Given the description of an element on the screen output the (x, y) to click on. 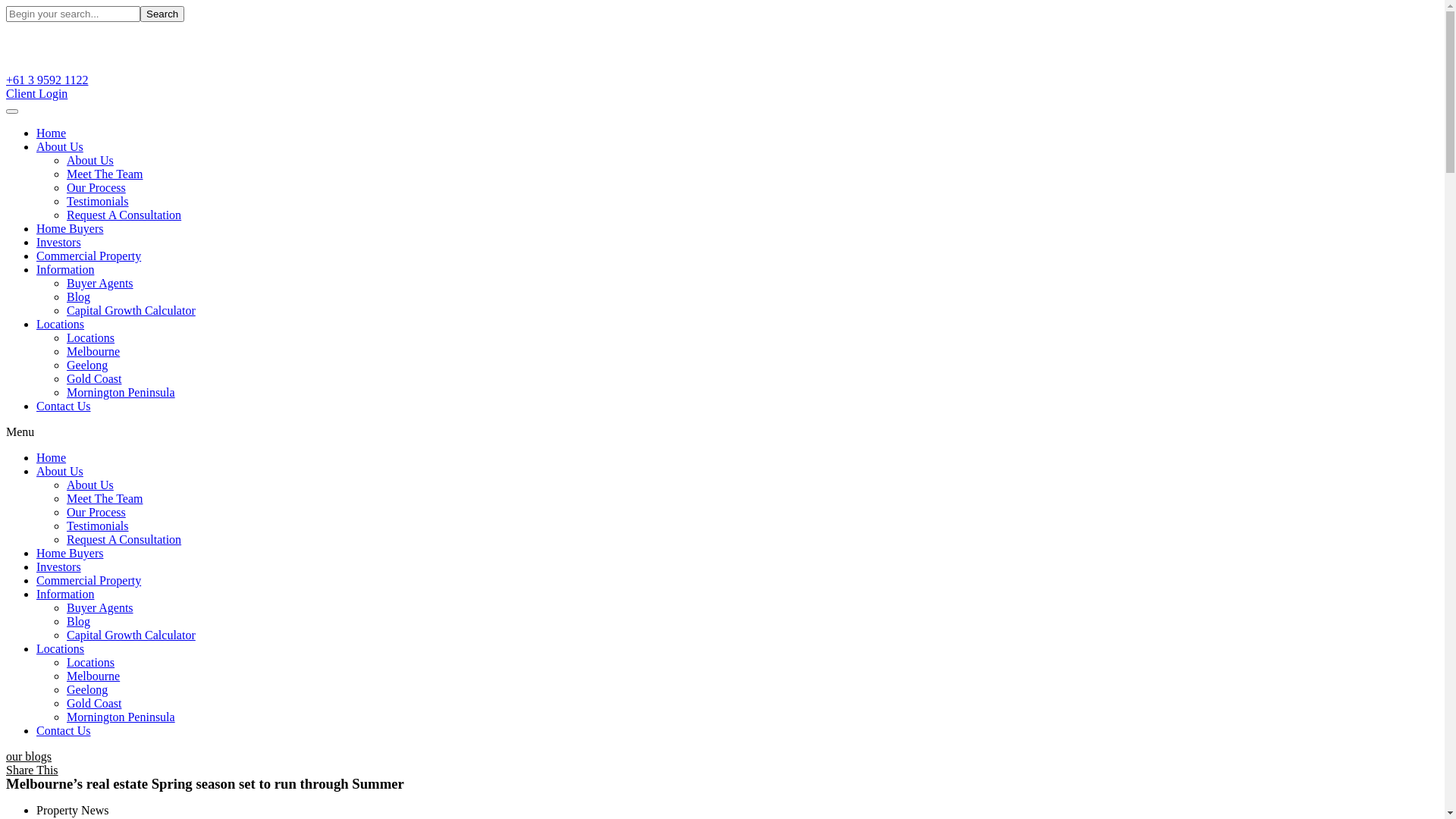
Locations Element type: text (60, 648)
Blog Element type: text (78, 296)
Melbourne Element type: text (92, 351)
Investors Element type: text (58, 566)
Home Element type: text (50, 132)
Home Buyers Element type: text (69, 552)
Home Element type: text (50, 457)
Share This Element type: text (32, 769)
Contact Us Element type: text (63, 730)
Investors Element type: text (58, 241)
Information Element type: text (65, 593)
Blog Element type: text (78, 621)
Request A Consultation Element type: text (123, 214)
Search Element type: text (162, 13)
Request A Consultation Element type: text (123, 539)
Buyer Agents Element type: text (99, 282)
Mornington Peninsula Element type: text (120, 716)
Home Buyers Element type: text (69, 228)
Buyer Agents Element type: text (99, 607)
Gold Coast Element type: text (93, 702)
Locations Element type: text (90, 661)
Capital Growth Calculator Element type: text (130, 634)
Geelong Element type: text (86, 364)
Elite Buyer Agents Element type: hover (109, 65)
Geelong Element type: text (86, 689)
Commercial Property Element type: text (88, 580)
Locations Element type: text (60, 323)
Contact Us Element type: text (63, 405)
Gold Coast Element type: text (93, 378)
Melbourne Element type: text (92, 675)
About Us Element type: text (89, 159)
our blogs Element type: text (28, 755)
About Us Element type: text (59, 146)
Capital Growth Calculator Element type: text (130, 310)
+61 3 9592 1122 Element type: text (46, 79)
Testimonials Element type: text (97, 200)
Meet The Team Element type: text (104, 173)
Locations Element type: text (90, 337)
Commercial Property Element type: text (88, 255)
Our Process Element type: text (95, 511)
Information Element type: text (65, 269)
Client Login Element type: text (36, 93)
Testimonials Element type: text (97, 525)
Our Process Element type: text (95, 187)
Mornington Peninsula Element type: text (120, 391)
Meet The Team Element type: text (104, 498)
About Us Element type: text (89, 484)
About Us Element type: text (59, 470)
